Given the description of an element on the screen output the (x, y) to click on. 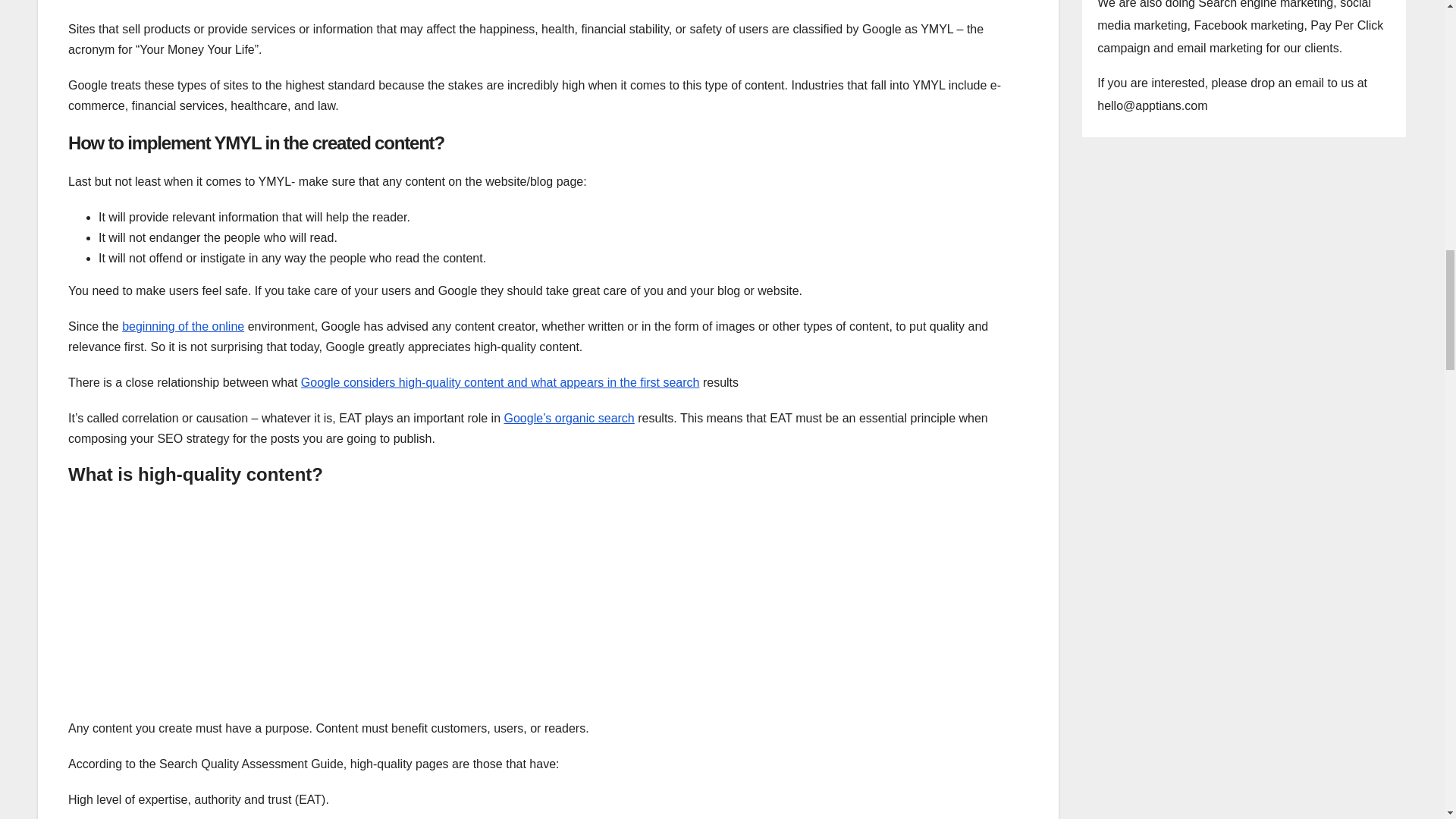
beginning of the online (183, 326)
